Given the description of an element on the screen output the (x, y) to click on. 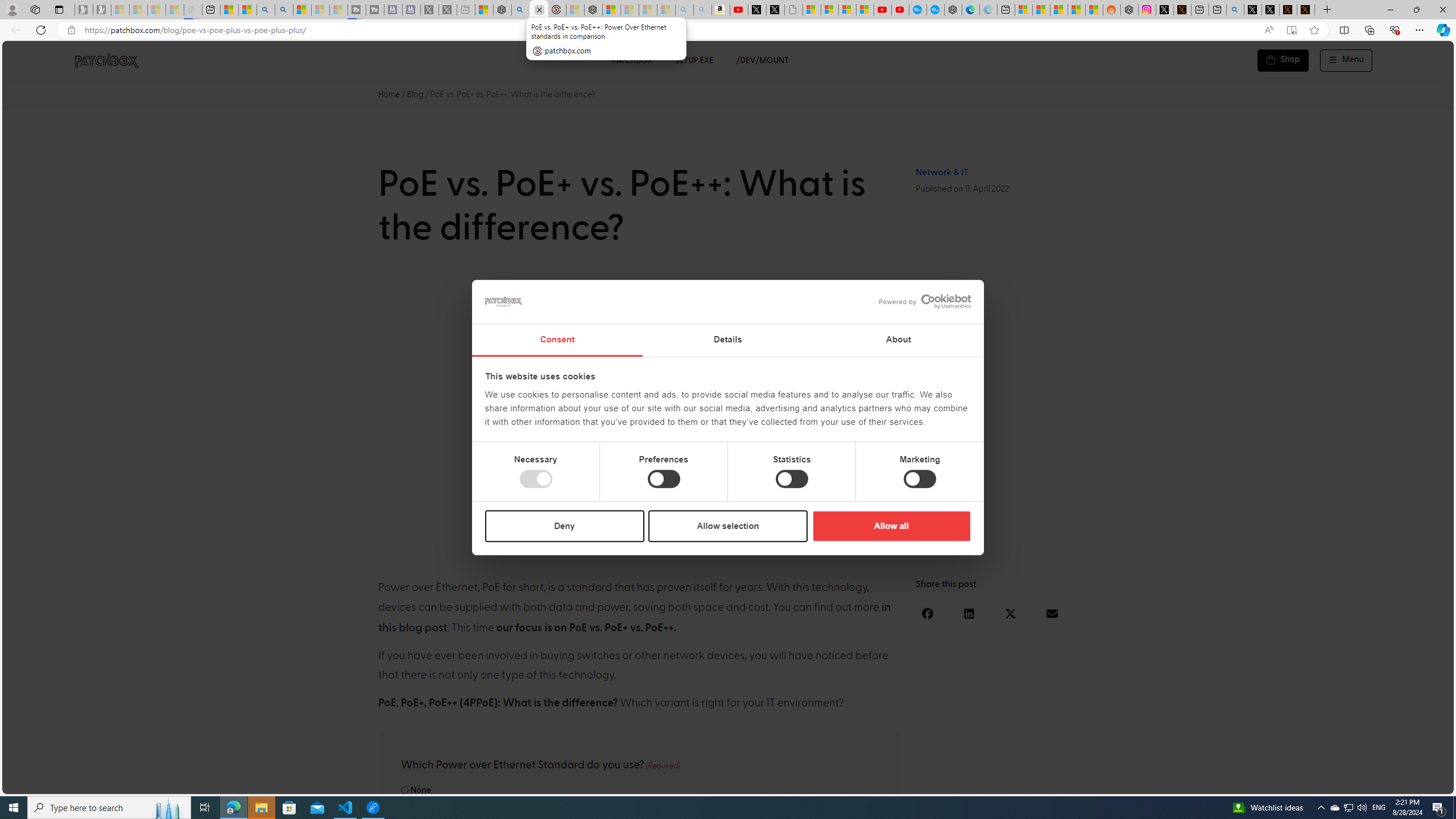
Shanghai, China hourly forecast | Microsoft Weather (1059, 9)
PATCHBOX (631, 60)
Language switcher : Spanish (1254, 782)
Language switcher : German (1231, 782)
SETUP.EXE (694, 60)
Deny (564, 525)
Untitled (794, 9)
Language switcher : Romanian (1368, 782)
About (898, 340)
